Given the description of an element on the screen output the (x, y) to click on. 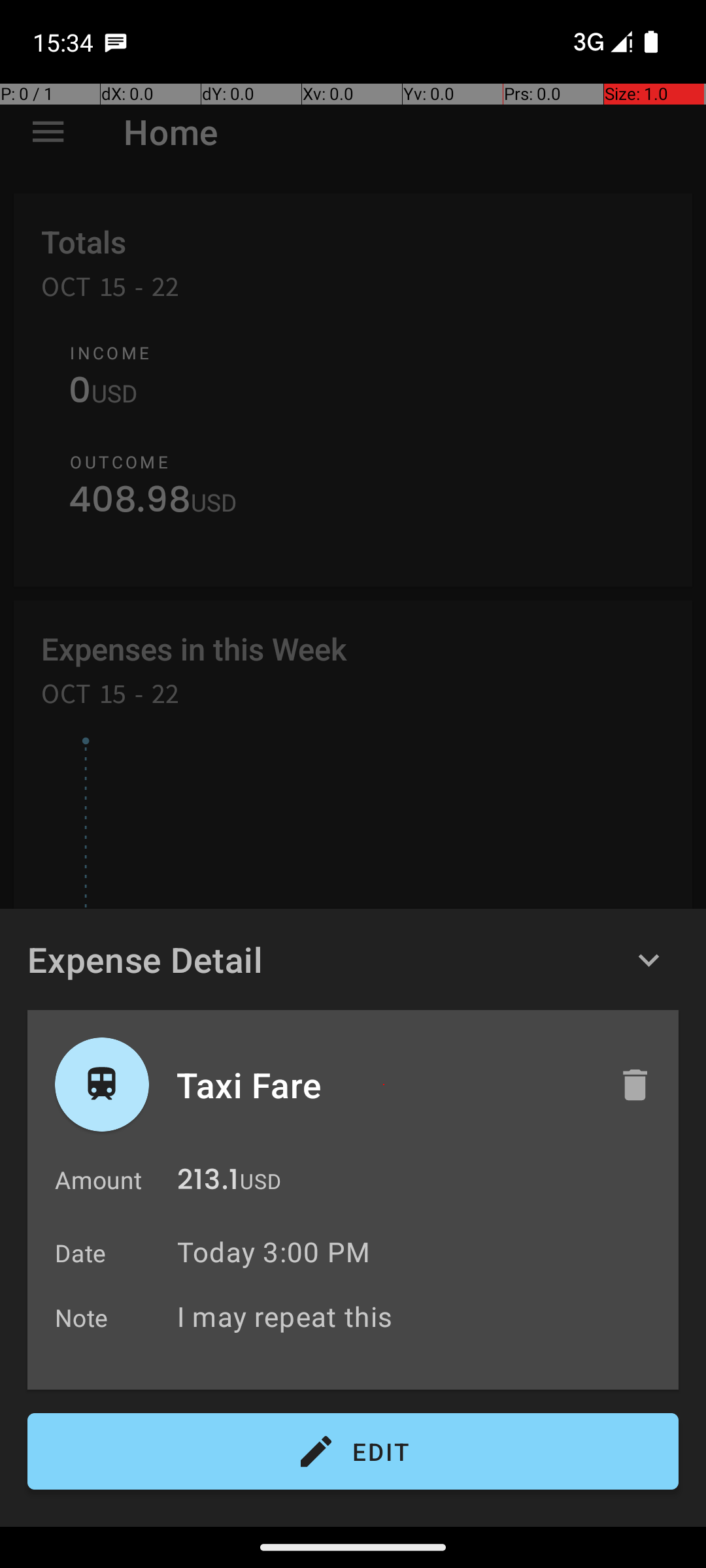
Taxi Fare Element type: android.widget.TextView (383, 1084)
213.1 Element type: android.widget.TextView (207, 1182)
Today 3:00 PM Element type: android.widget.TextView (273, 1251)
